Given the description of an element on the screen output the (x, y) to click on. 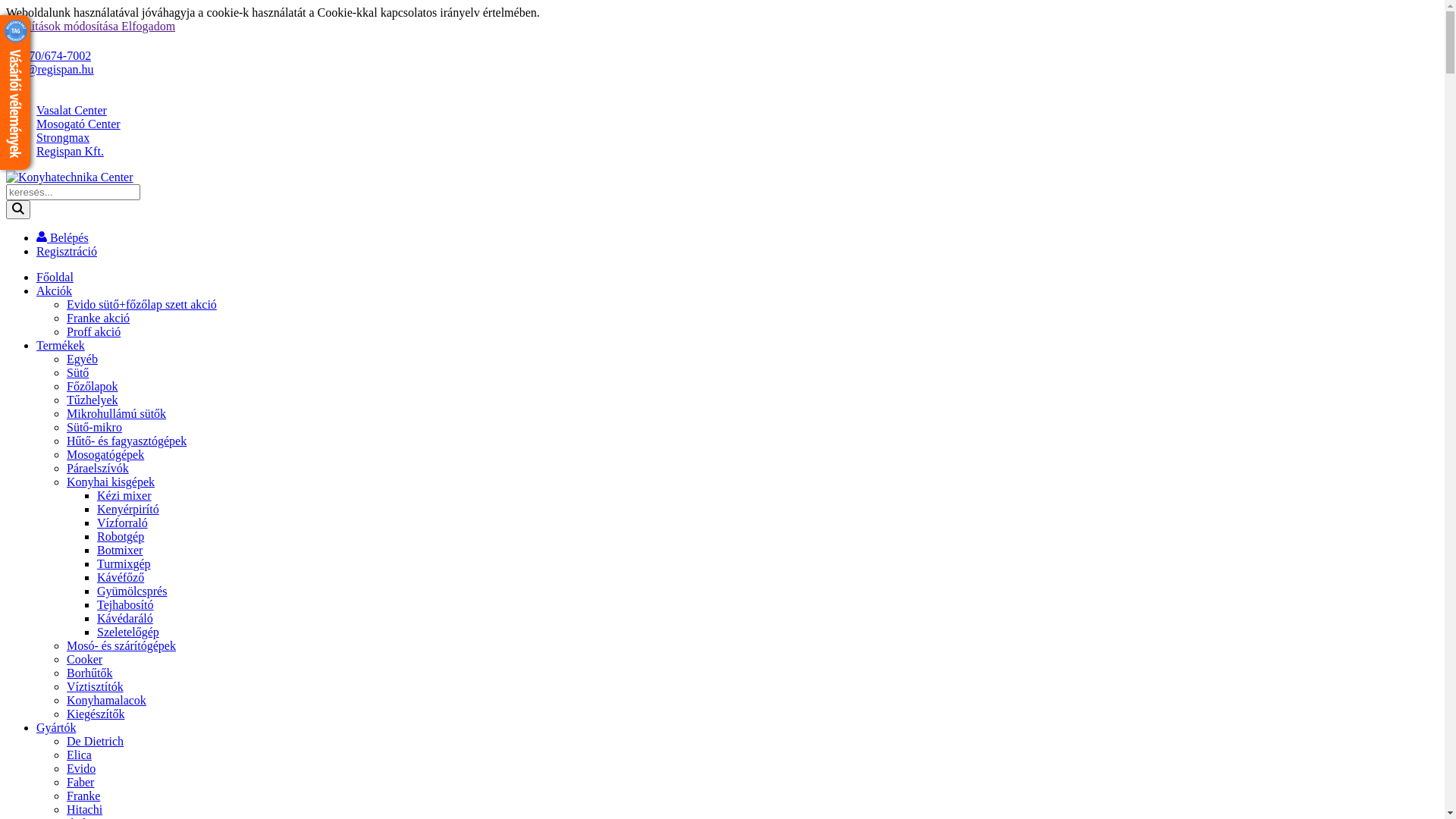
Vasalat Center Element type: text (71, 109)
Faber Element type: text (80, 781)
Strongmax Element type: text (62, 137)
Botmixer Element type: text (119, 549)
+36-70/674-7002 Element type: text (48, 55)
Evido Element type: text (80, 768)
Cooker Element type: text (84, 658)
Regispan Kft. Element type: text (69, 150)
De Dietrich Element type: text (94, 740)
web@regispan.hu Element type: text (50, 68)
Hitachi Element type: text (84, 809)
Franke Element type: text (83, 795)
Elica Element type: text (78, 754)
Konyhamalacok Element type: text (106, 699)
Elfogadom Element type: text (148, 25)
Konyhatechnika Center Element type: hover (69, 177)
